Given the description of an element on the screen output the (x, y) to click on. 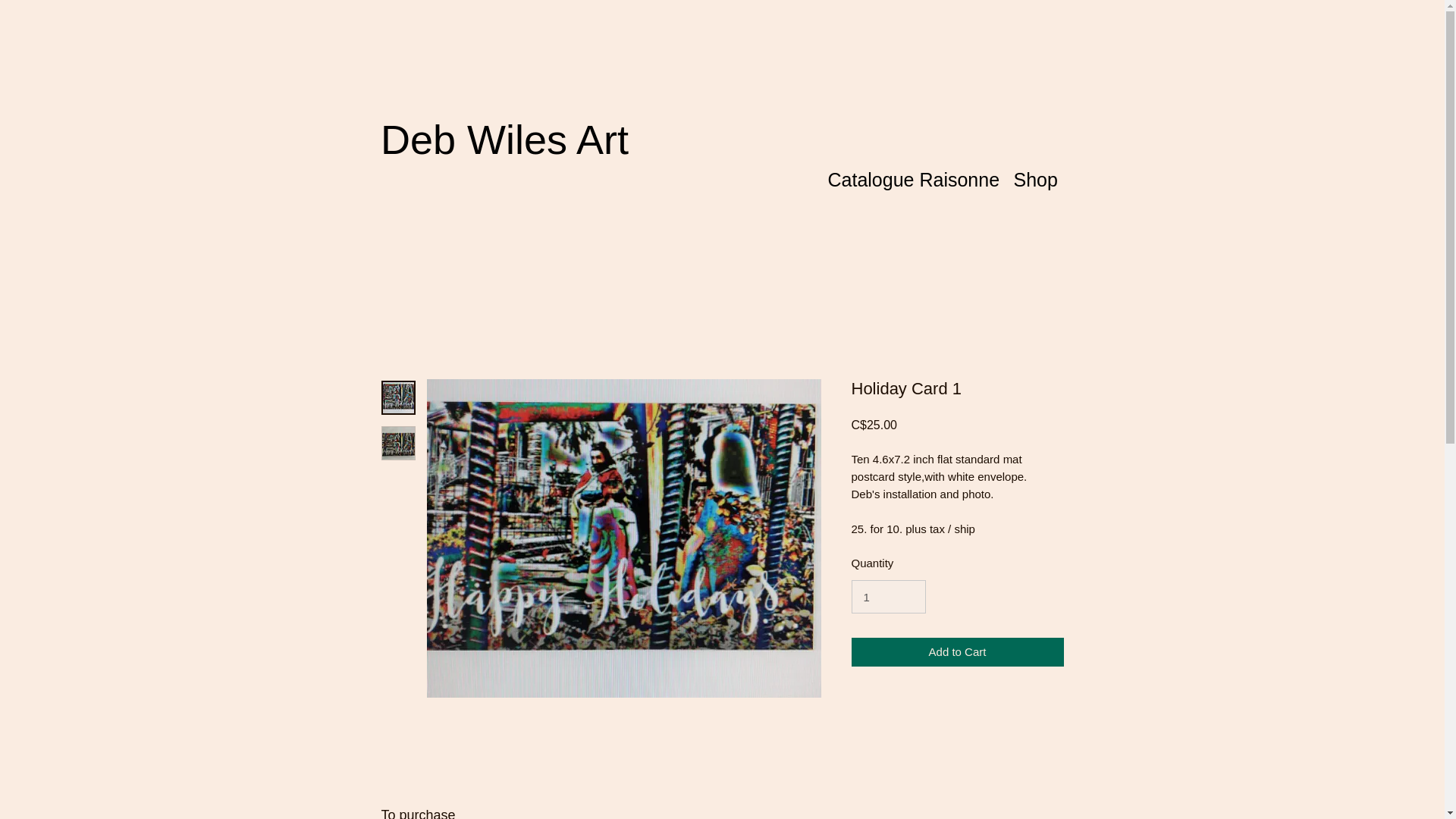
Shop (1035, 178)
1 (887, 596)
Catalogue Raisonne (913, 178)
Add to Cart (956, 652)
